Given the description of an element on the screen output the (x, y) to click on. 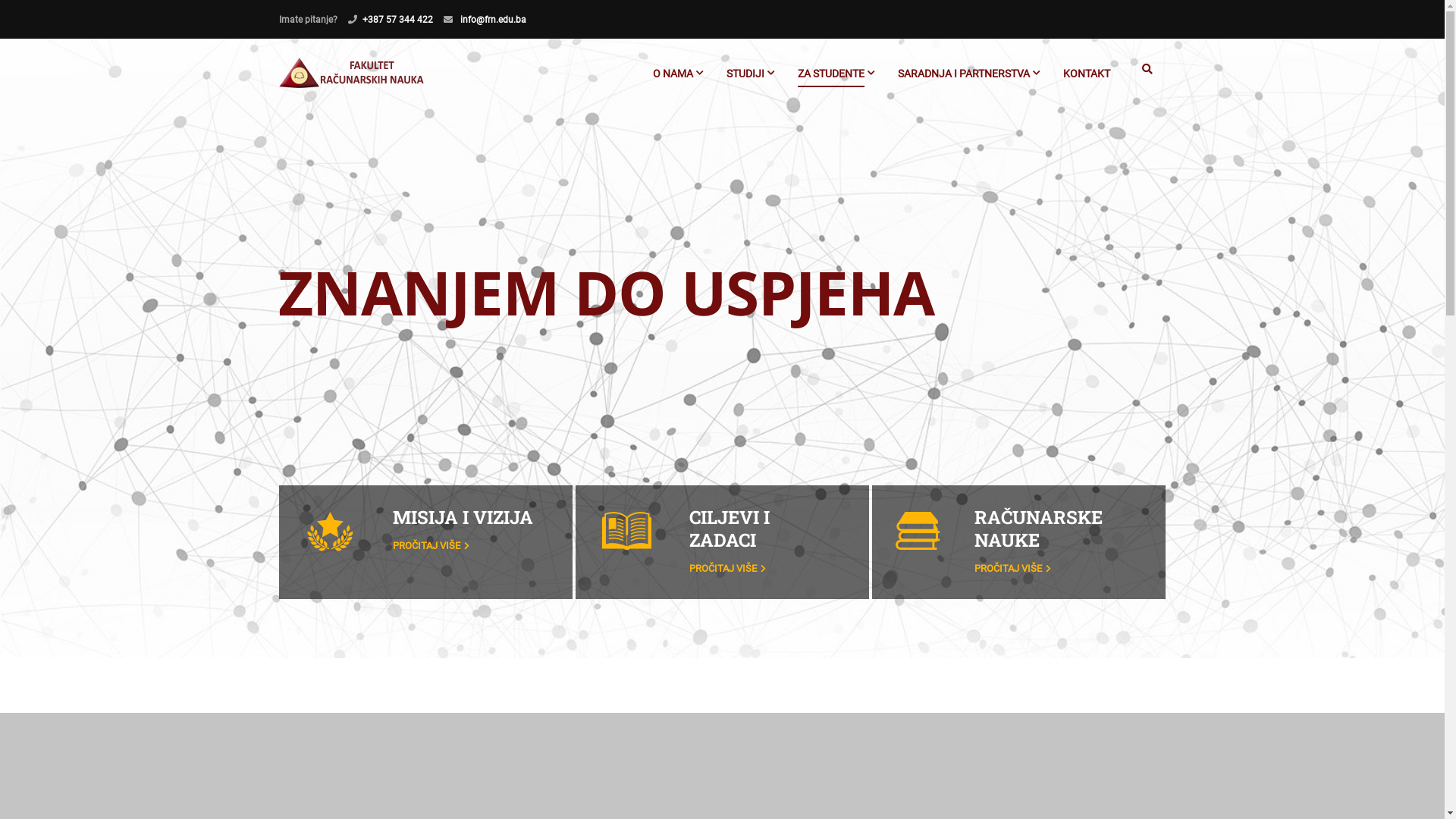
logo-top-2 Element type: hover (626, 530)
logo-top-3 Element type: hover (917, 530)
KONTAKT Element type: text (1086, 80)
Pretraga Element type: text (1147, 73)
info@frn.edu.ba Element type: text (492, 19)
+387 57 344 422 Element type: text (397, 19)
logo-top-1 Element type: hover (329, 531)
